Given the description of an element on the screen output the (x, y) to click on. 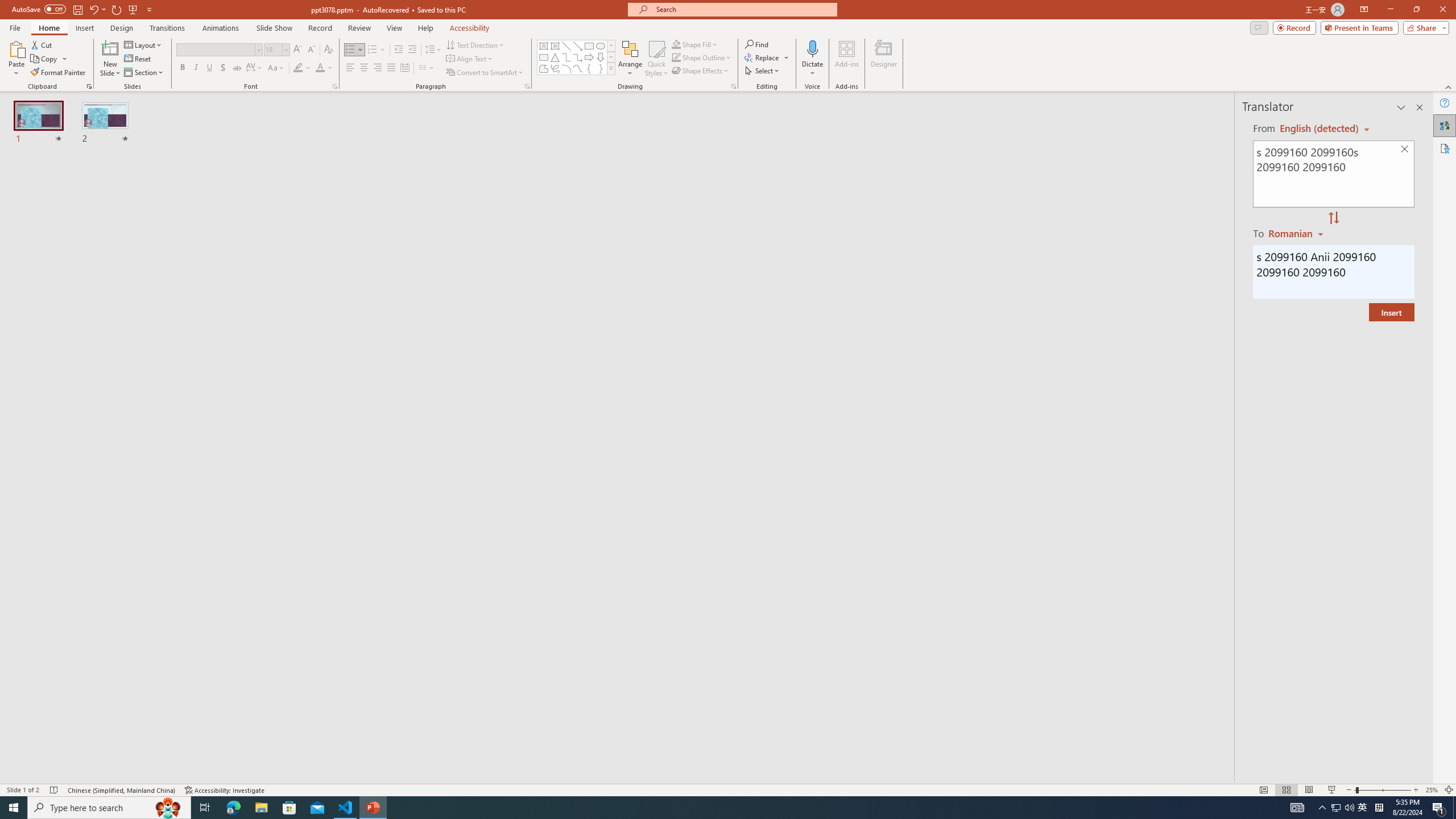
Czech (detected) (1319, 128)
